Given the description of an element on the screen output the (x, y) to click on. 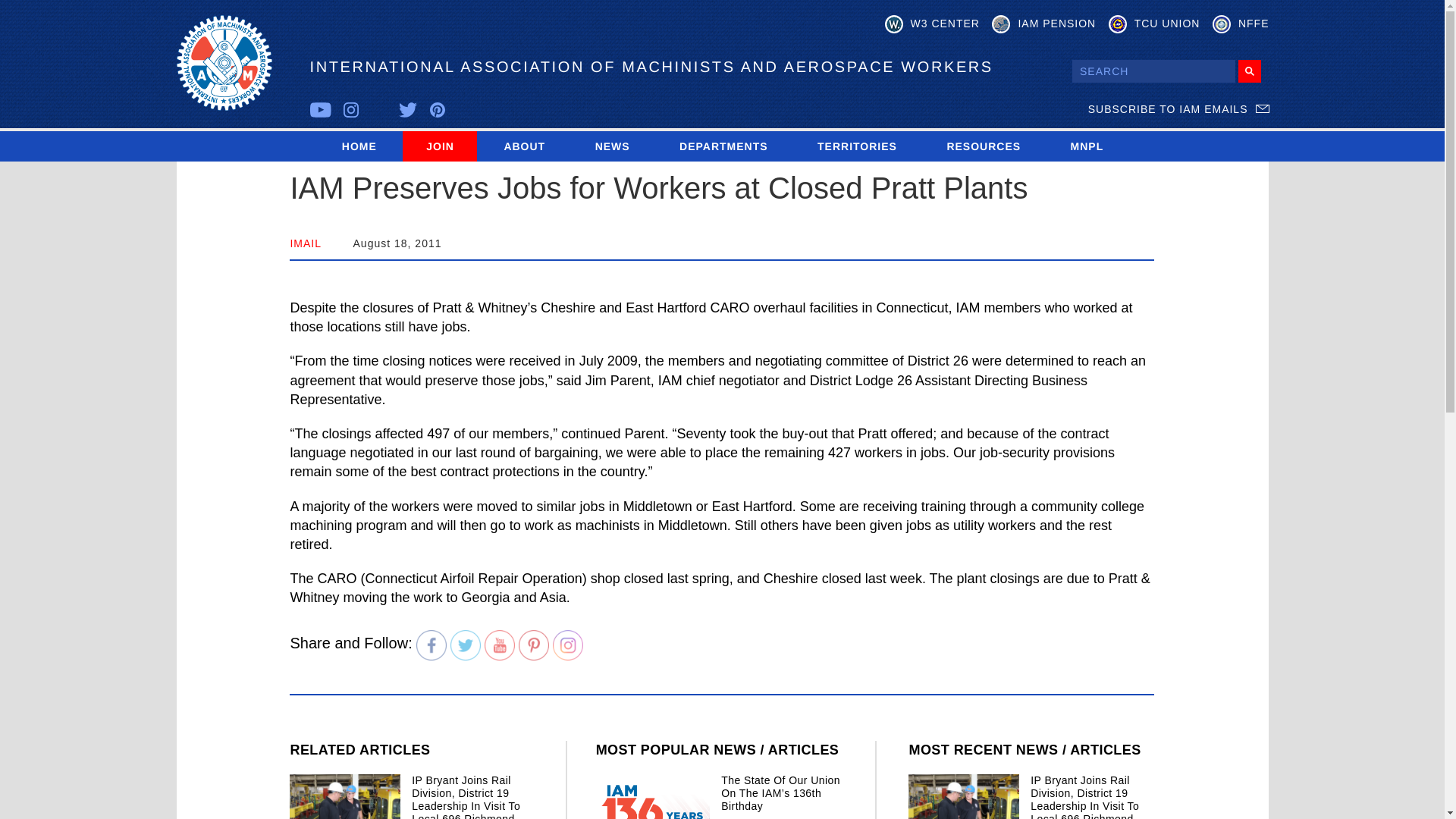
Twitter (464, 644)
MNPL (1086, 146)
IMAIL (305, 243)
NEWS (612, 146)
Facebook (431, 644)
NFFE (1240, 24)
Pinterest (533, 644)
YouTube (499, 644)
TERRITORIES (856, 146)
SUBSCRIBE TO IAM EMAILS (1178, 108)
IAM PENSION (1043, 24)
W3 CENTER (932, 24)
There is a 4 character minimum for any search. (1152, 70)
HOME (358, 146)
TCU UNION (1153, 24)
